Given the description of an element on the screen output the (x, y) to click on. 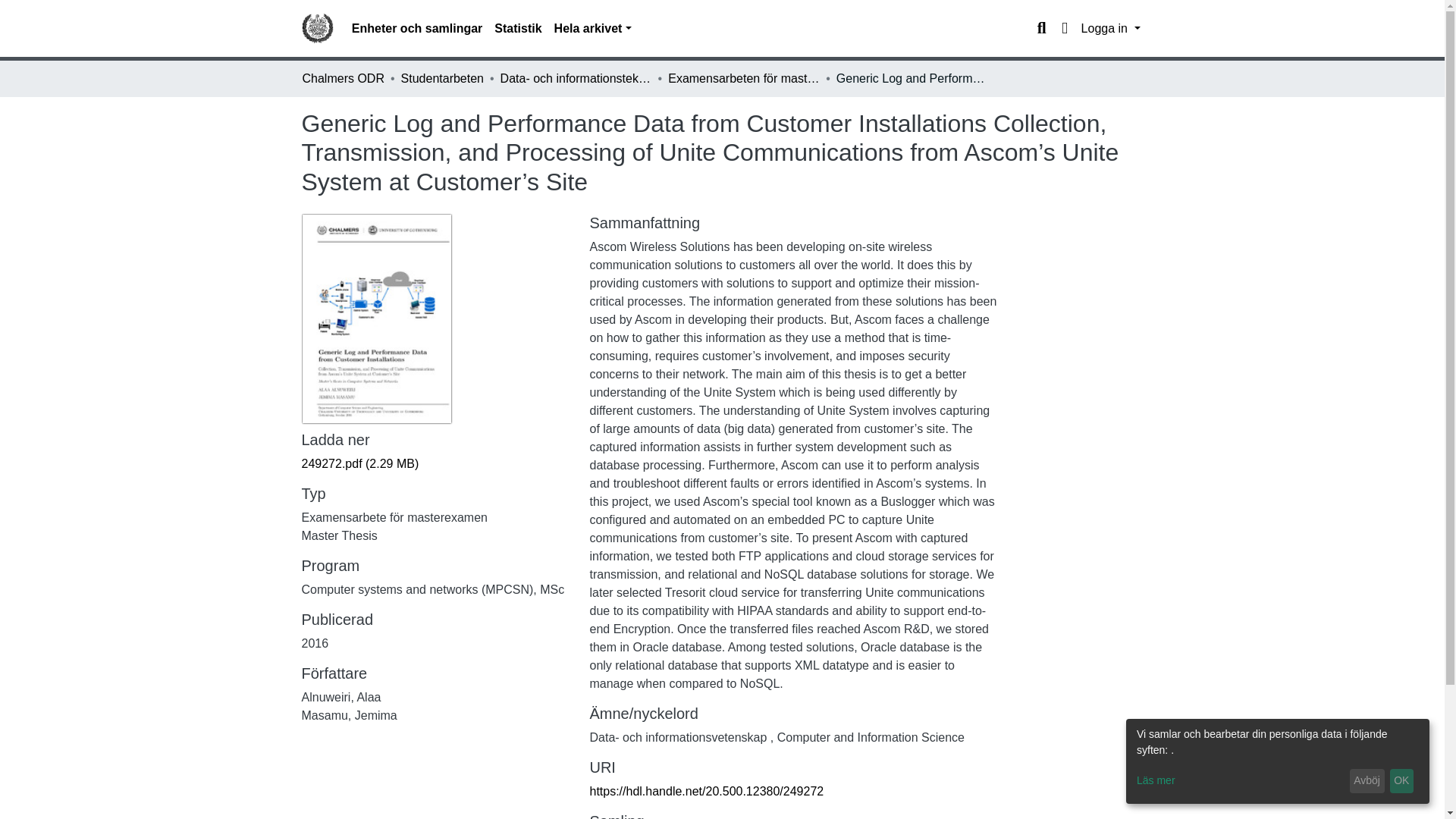
OK (1401, 781)
Enheter och samlingar (417, 28)
Statistik (517, 28)
Hela arkivet (592, 28)
Studentarbeten (442, 78)
Logga in (1110, 28)
Enheter och samlingar (417, 28)
Statistik (517, 28)
Chalmers ODR (342, 78)
